Given the description of an element on the screen output the (x, y) to click on. 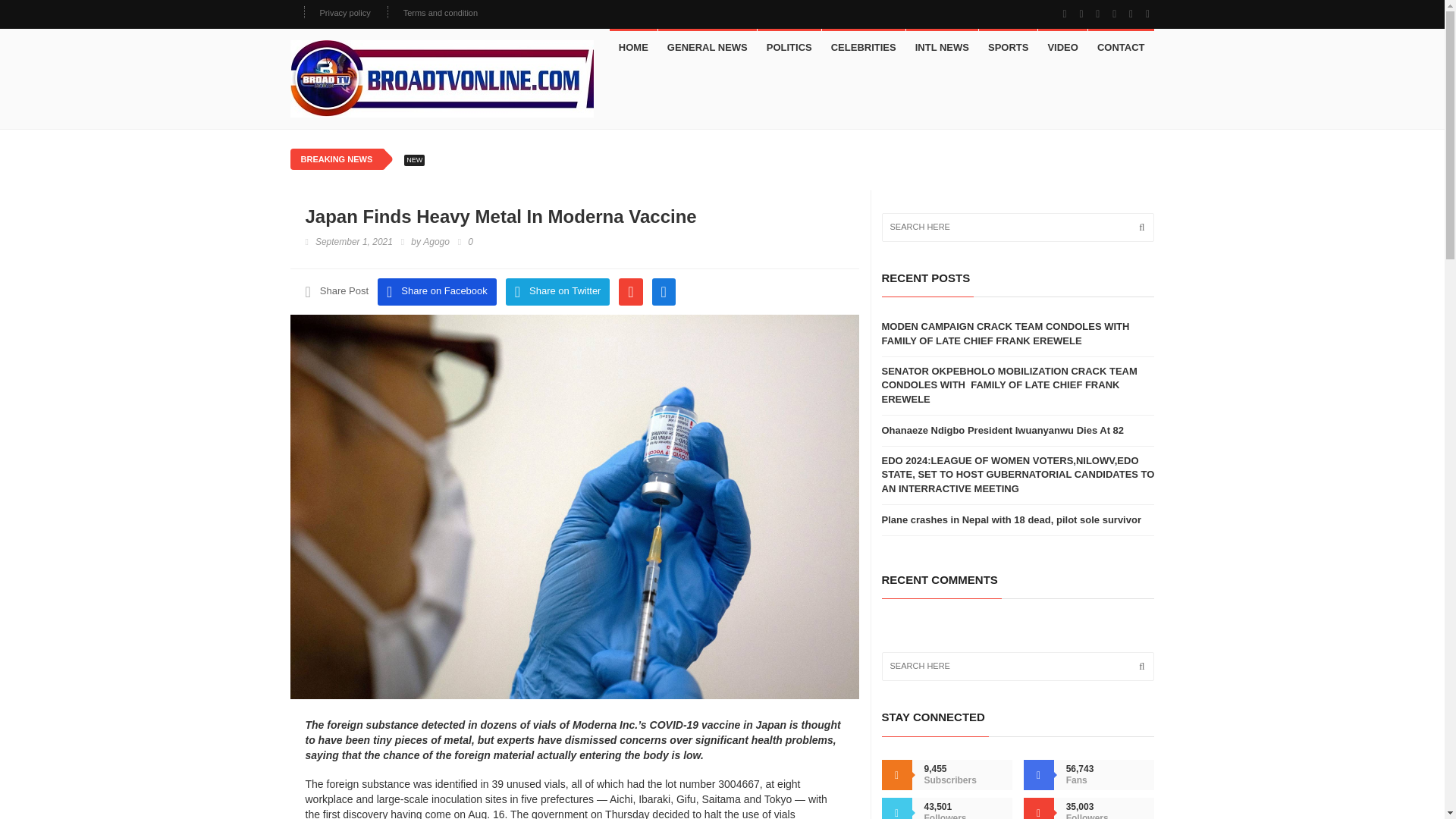
Video (1062, 47)
Politics (789, 47)
Share on Twitter (557, 291)
CONTACT (1120, 47)
POLITICS (789, 47)
General News (707, 47)
Intl News (941, 47)
INTL NEWS (941, 47)
HOME (634, 47)
Privacy policy (345, 12)
0 (465, 241)
The foreign substance was identified in 39 unused vials (434, 784)
Broad TV Online (440, 78)
Home (634, 47)
Share on Facebook (436, 291)
